Given the description of an element on the screen output the (x, y) to click on. 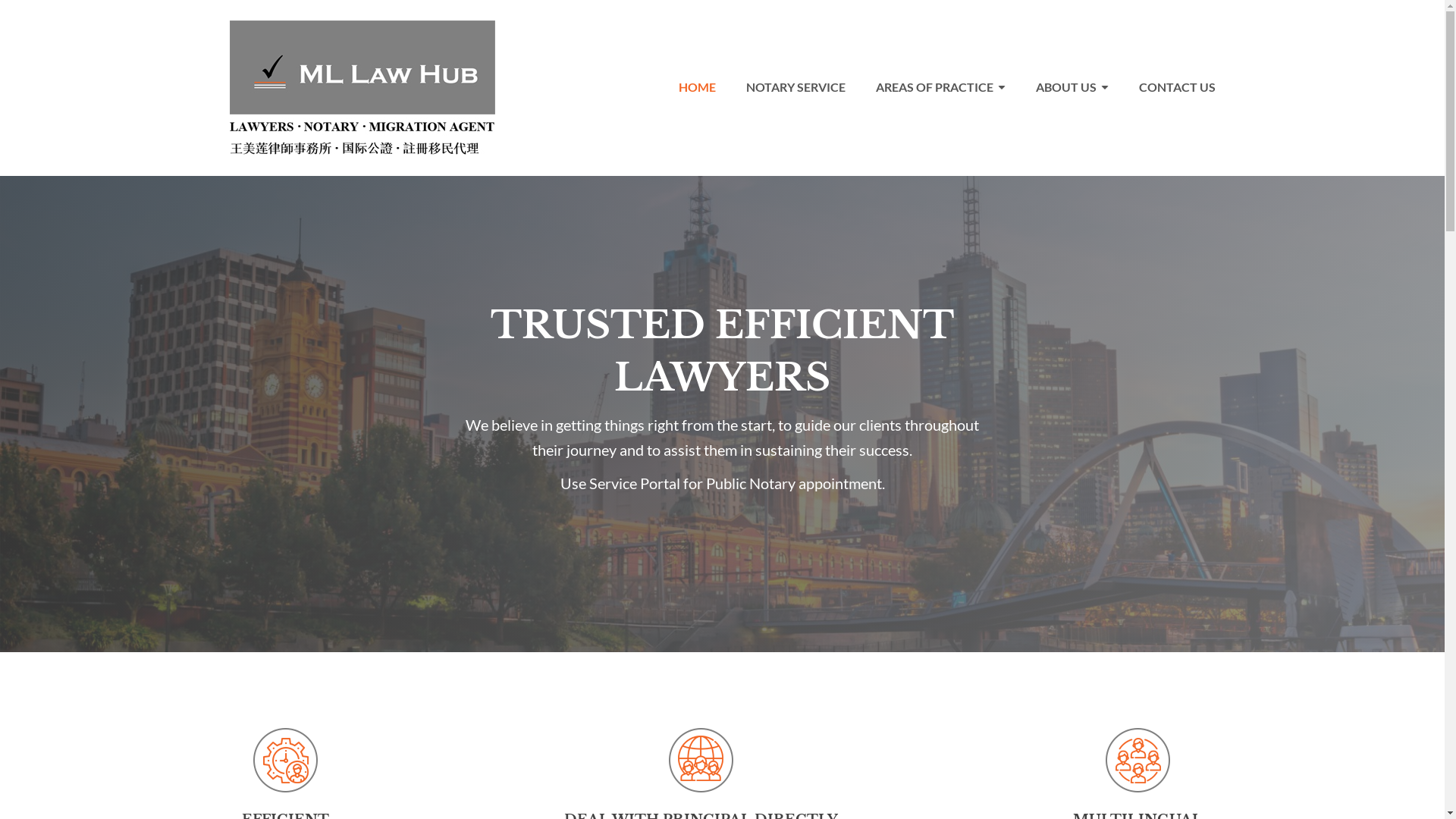
HOME Element type: text (696, 86)
ABOUT US Element type: text (1071, 86)
NOTARY SERVICE Element type: text (795, 86)
Skip to primary navigation Element type: text (0, 0)
CONTACT US Element type: text (1169, 86)
AREAS OF PRACTICE Element type: text (939, 86)
ML Law Hub Element type: hover (361, 149)
